Given the description of an element on the screen output the (x, y) to click on. 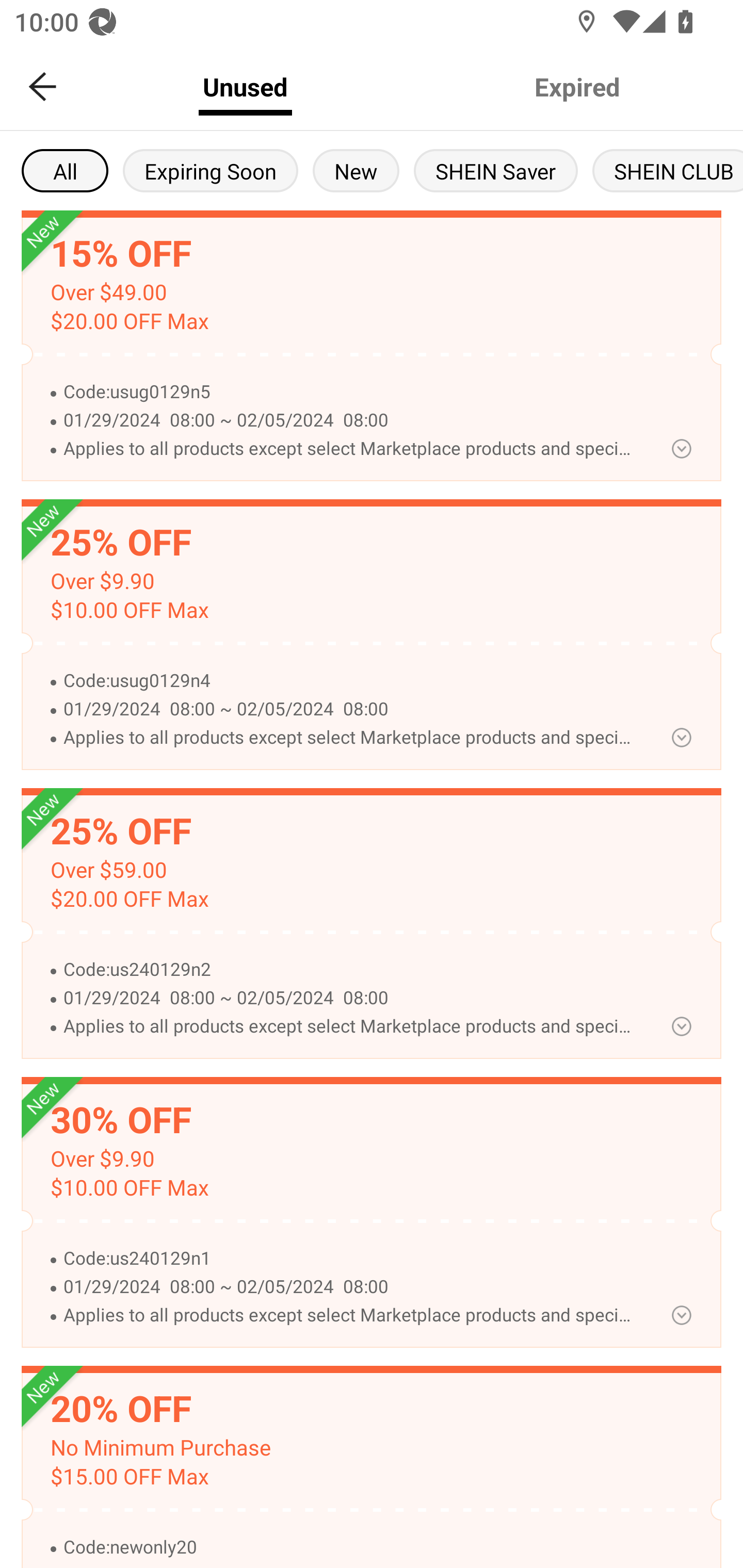
Unused (244, 86)
Expired (576, 86)
All (64, 170)
Expiring Soon (209, 170)
New (355, 170)
SHEIN Saver (495, 170)
SHEIN CLUB (667, 170)
$20.00 OFF Max (129, 320)
Code:usug0129n5 (350, 391)
01/29/2024  08:00 ~ 02/05/2024  08:00 (350, 420)
Pack up (681, 448)
$10.00 OFF Max (129, 609)
Code:usug0129n4 (350, 681)
01/29/2024  08:00 ~ 02/05/2024  08:00 (350, 709)
Pack up (681, 737)
$20.00 OFF Max (129, 898)
Code:us240129n2 (350, 969)
01/29/2024  08:00 ~ 02/05/2024  08:00 (350, 997)
Pack up (681, 1026)
$10.00 OFF Max (129, 1188)
Code:us240129n1 (350, 1259)
01/29/2024  08:00 ~ 02/05/2024  08:00 (350, 1287)
Pack up (681, 1315)
$15.00 OFF Max (129, 1476)
Code:newonly20 (350, 1547)
